Given the description of an element on the screen output the (x, y) to click on. 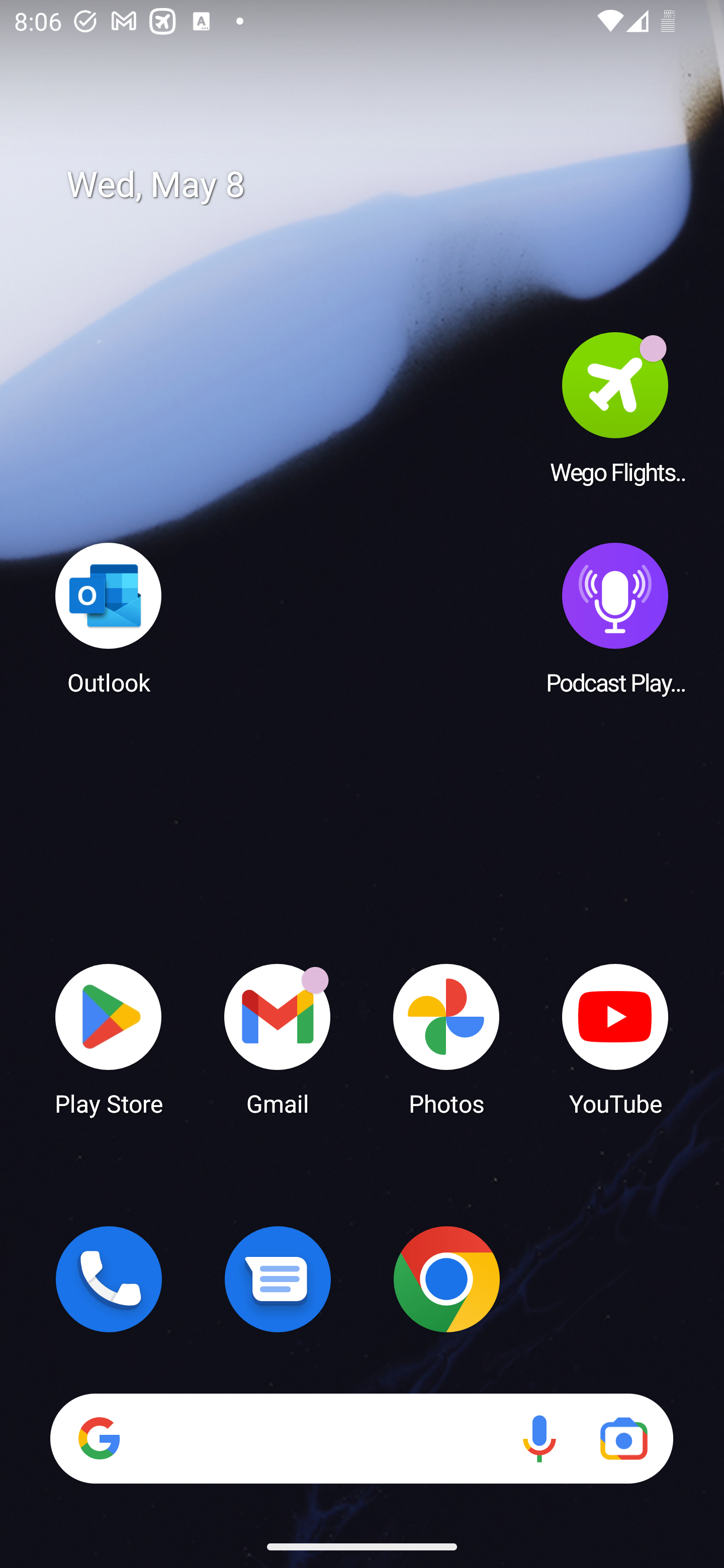
Wed, May 8 (375, 184)
Outlook (108, 617)
Podcast Player (615, 617)
Play Store (108, 1038)
Gmail Gmail has 17 notifications (277, 1038)
Photos (445, 1038)
YouTube (615, 1038)
Phone (108, 1279)
Messages (277, 1279)
Chrome (446, 1279)
Search Voice search Google Lens (361, 1438)
Voice search (539, 1438)
Google Lens (623, 1438)
